Given the description of an element on the screen output the (x, y) to click on. 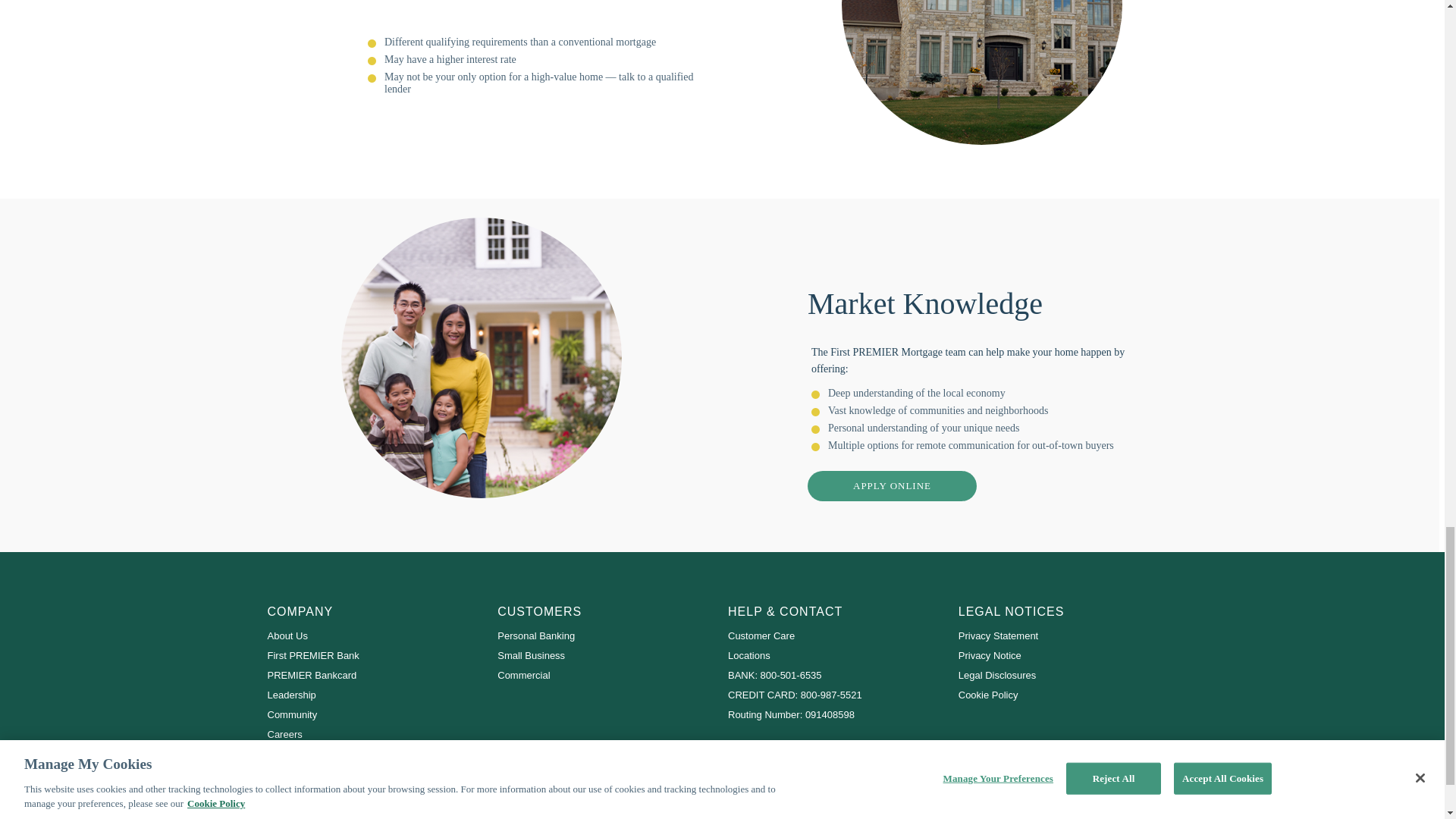
Market Knowledge (480, 357)
Equal Housing Lender (344, 801)
What to Know About Jumbo Loans (981, 72)
